Given the description of an element on the screen output the (x, y) to click on. 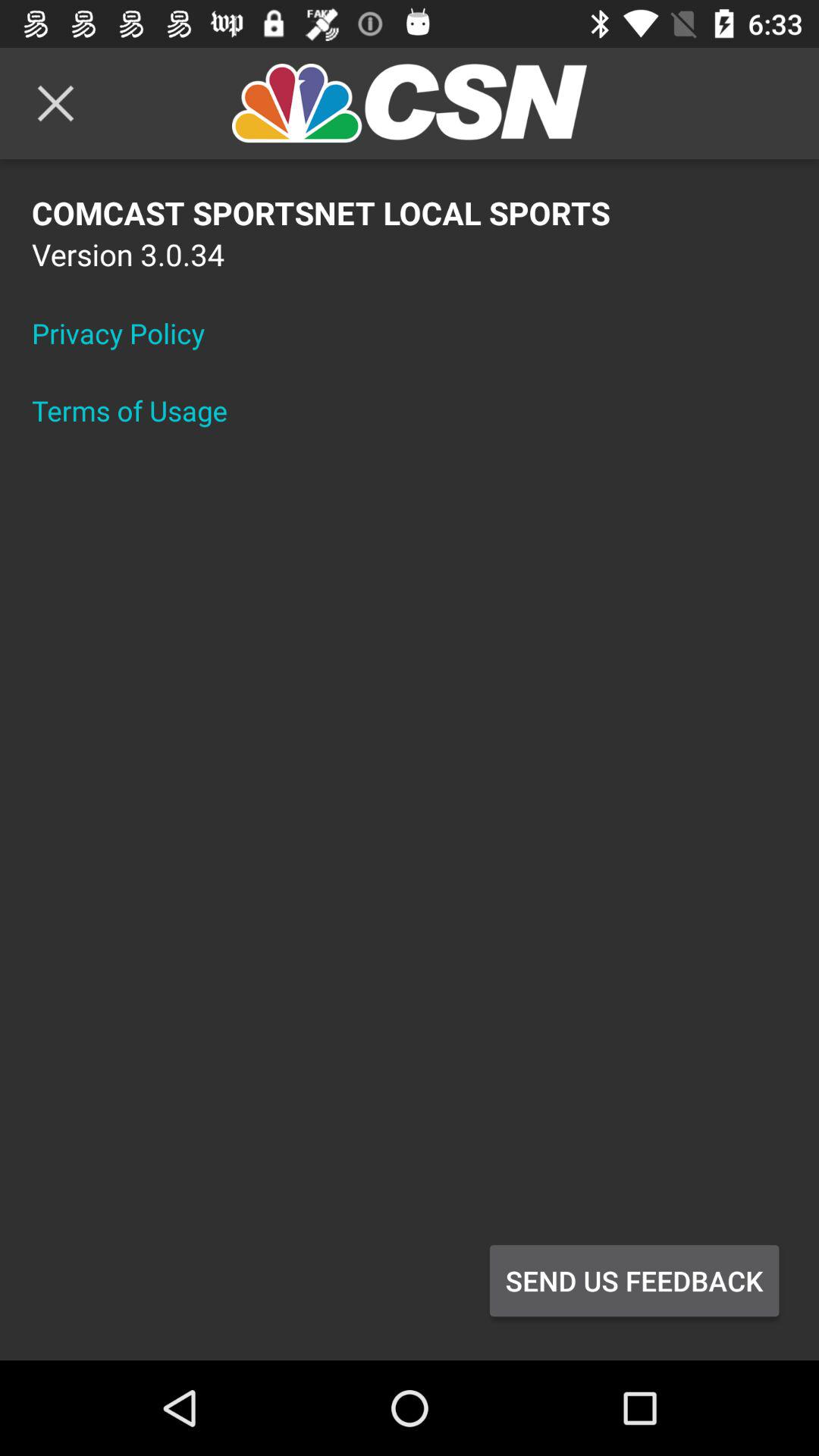
tap the item below comcast sportsnet local icon (634, 1280)
